Given the description of an element on the screen output the (x, y) to click on. 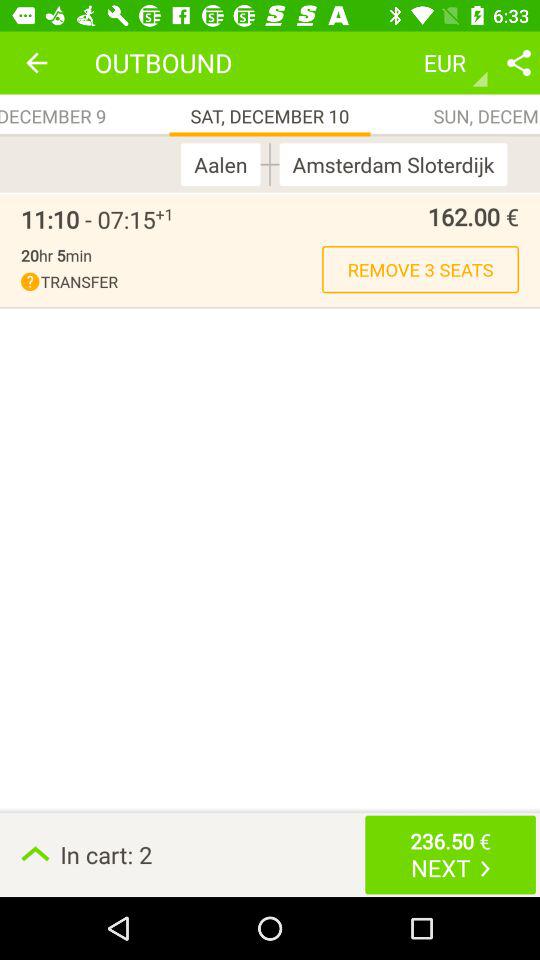
tap icon to the left of amsterdam sloterdijk (269, 164)
